Given the description of an element on the screen output the (x, y) to click on. 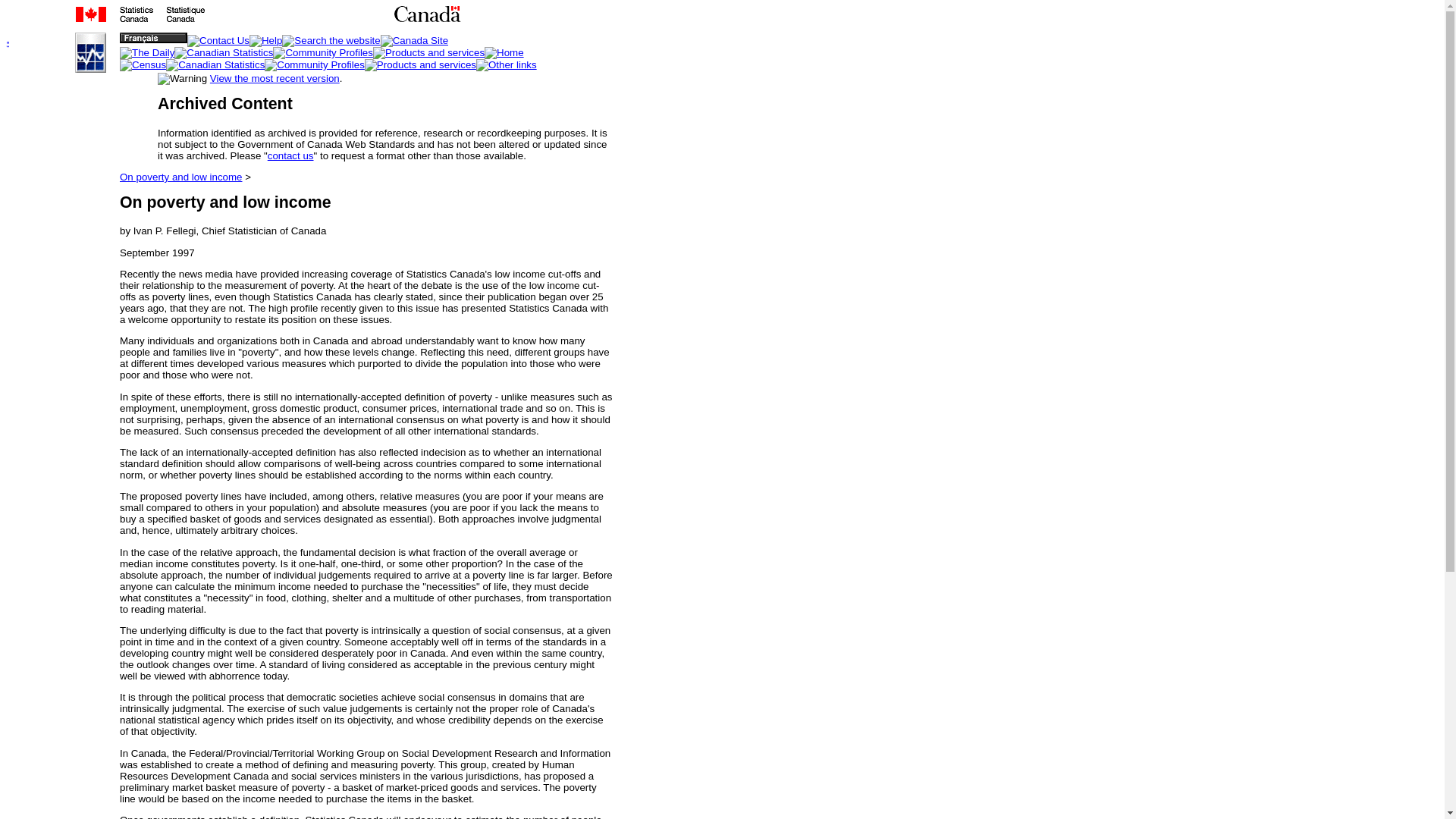
Census (142, 64)
contact us (290, 155)
Home (63, 52)
Canada Site (414, 40)
Statistics Canada - Statistique Canada (233, 18)
The Daily (146, 52)
Community Profiles (322, 52)
Home (504, 52)
Search the website (331, 40)
Contact Us (217, 40)
Canadian Statistics (223, 52)
On poverty and low income (181, 176)
Products and services (428, 52)
View the most recent version (274, 78)
Warning (181, 78)
